Given the description of an element on the screen output the (x, y) to click on. 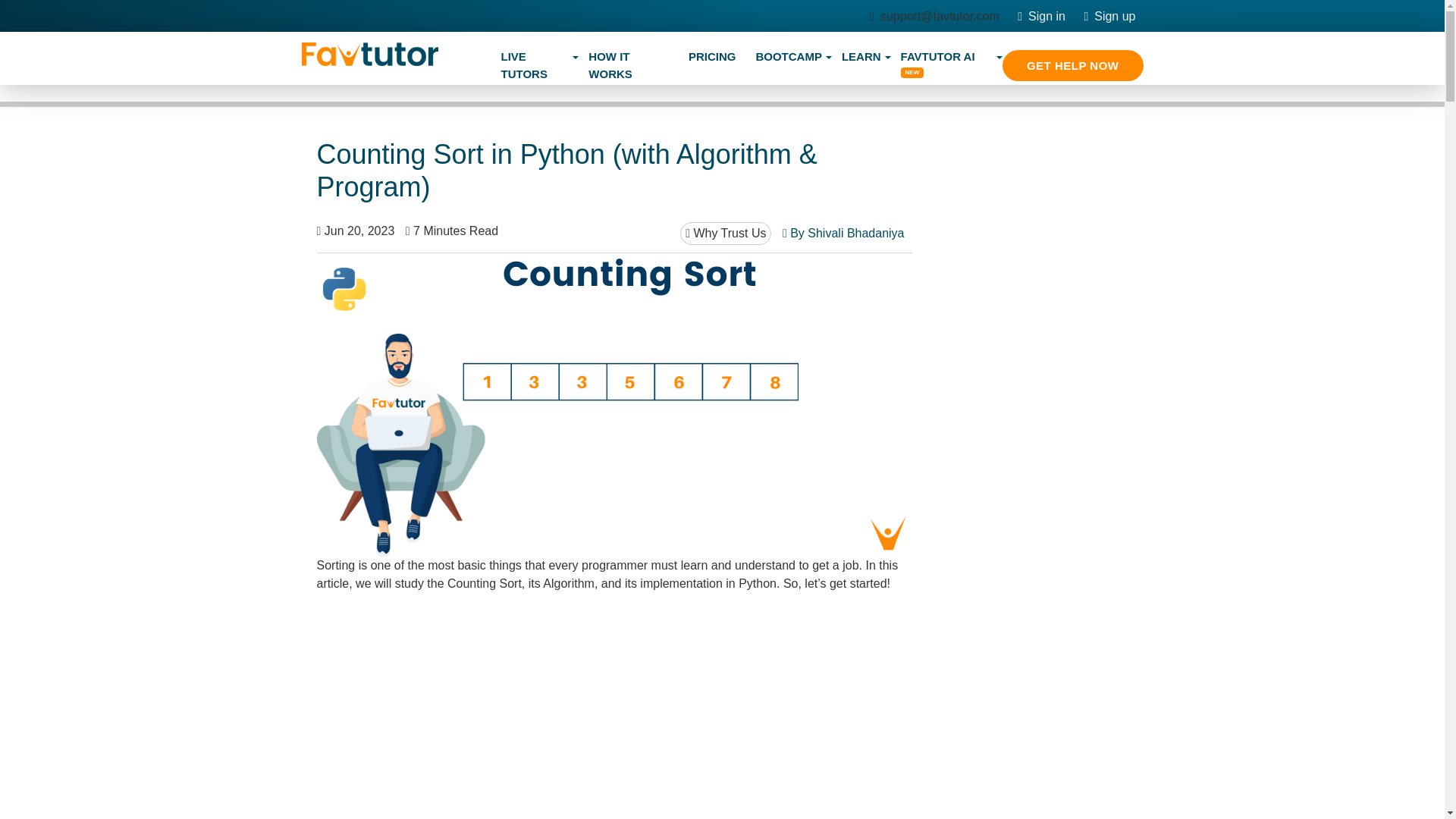
Sign up (1109, 15)
LIVE TUTORS (535, 65)
HOW IT WORKS (628, 65)
PRICING (711, 56)
FAVTUTOR AI NEW (947, 65)
GET HELP NOW (1072, 65)
Sign in (1041, 15)
LEARN (861, 56)
BOOTCAMP (788, 56)
